Given the description of an element on the screen output the (x, y) to click on. 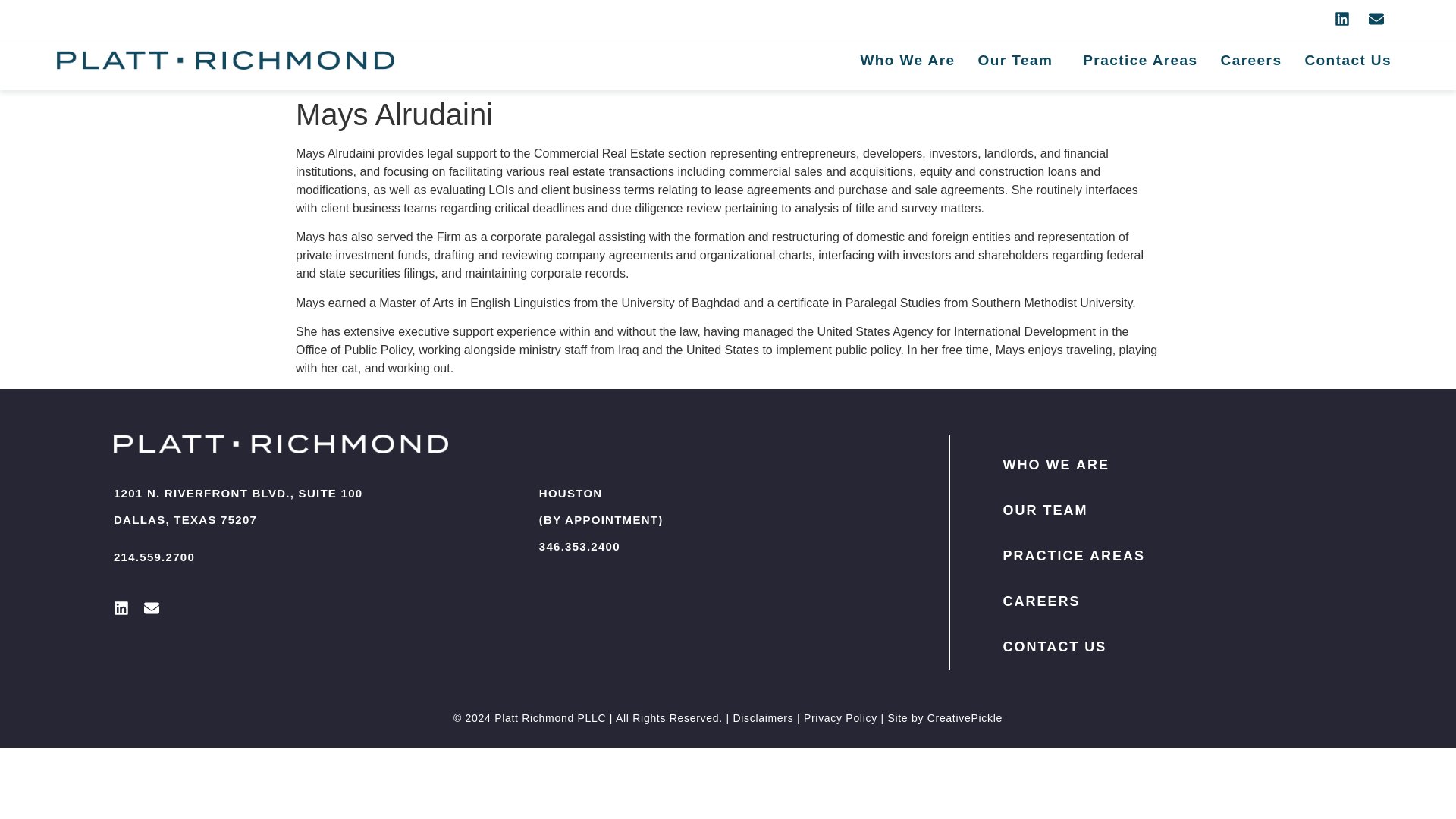
Who We Are (906, 59)
Careers (1251, 59)
346.353.2400 (579, 545)
Our Team (1018, 59)
214.559.2700 (154, 556)
WHO WE ARE (1165, 464)
CONTACT US (1165, 646)
Practice Areas (1139, 59)
Contact Us (1347, 59)
CAREERS (1165, 601)
